Given the description of an element on the screen output the (x, y) to click on. 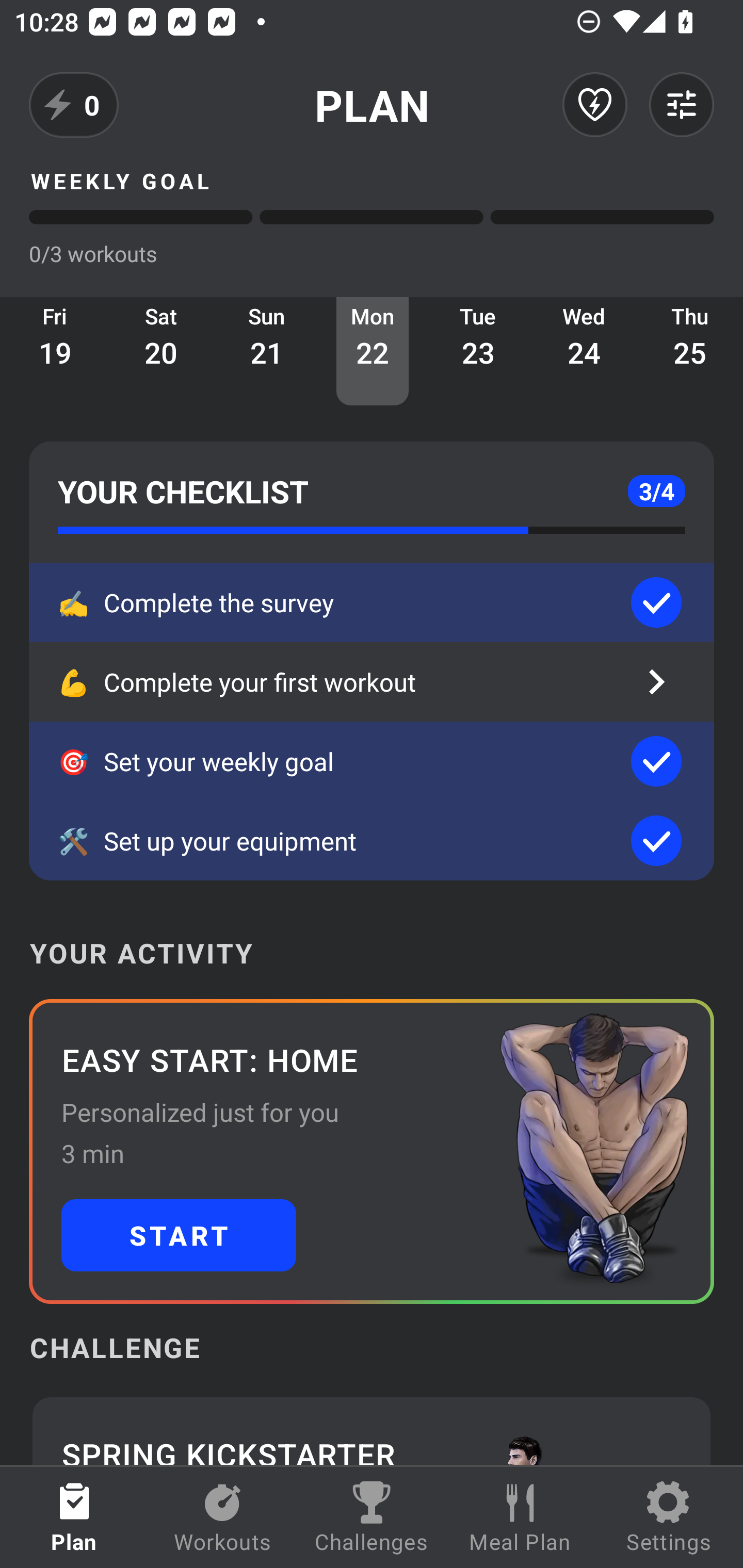
0 (73, 104)
Fri 19 (55, 351)
Sat 20 (160, 351)
Sun 21 (266, 351)
Mon 22 (372, 351)
Tue 23 (478, 351)
Wed 24 (584, 351)
Thu 25 (690, 351)
💪 Complete your first workout (371, 681)
START (178, 1235)
 Workouts  (222, 1517)
 Challenges  (371, 1517)
 Meal Plan  (519, 1517)
 Settings  (668, 1517)
